Given the description of an element on the screen output the (x, y) to click on. 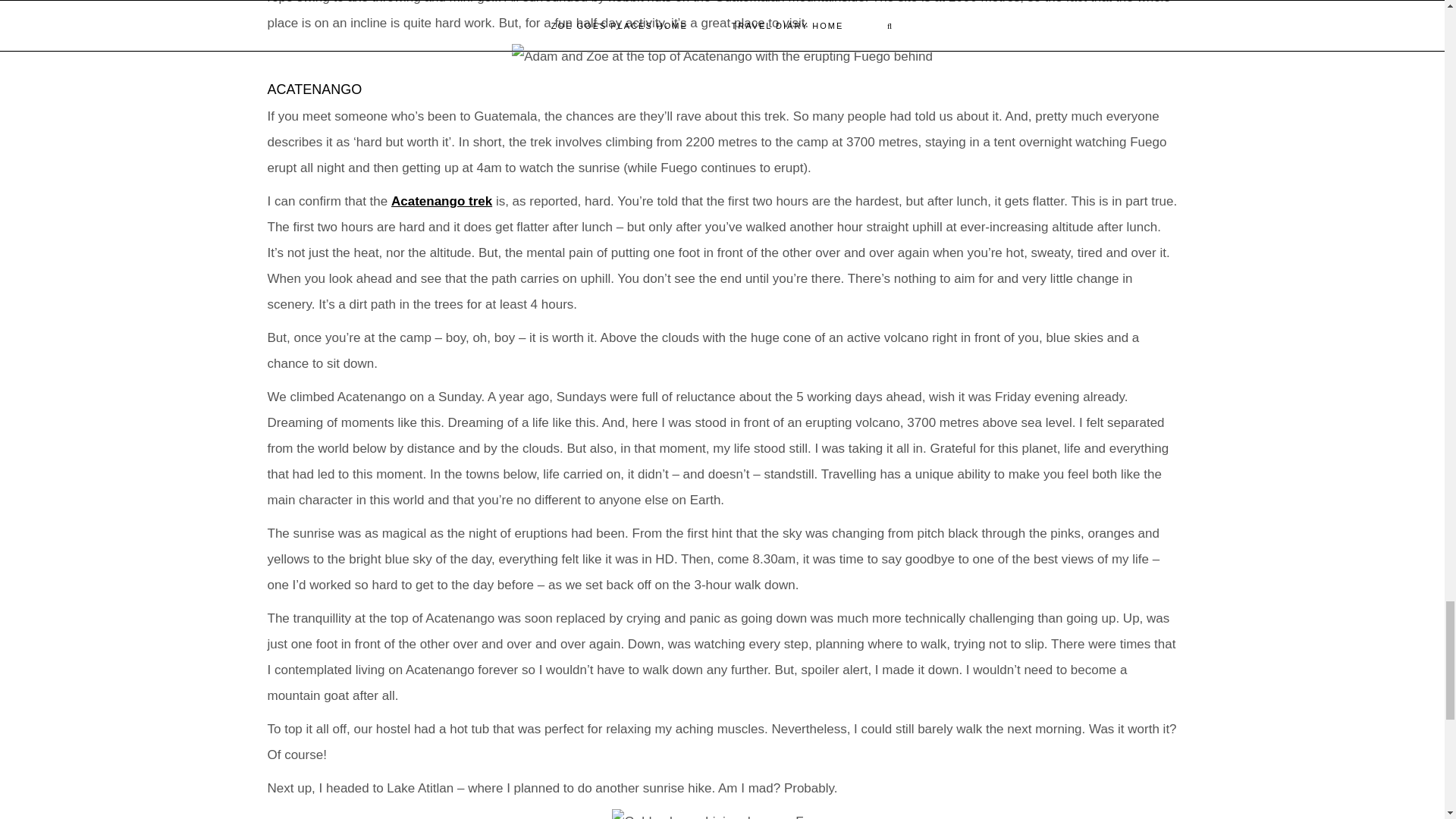
Acatenango trek (441, 201)
